Given the description of an element on the screen output the (x, y) to click on. 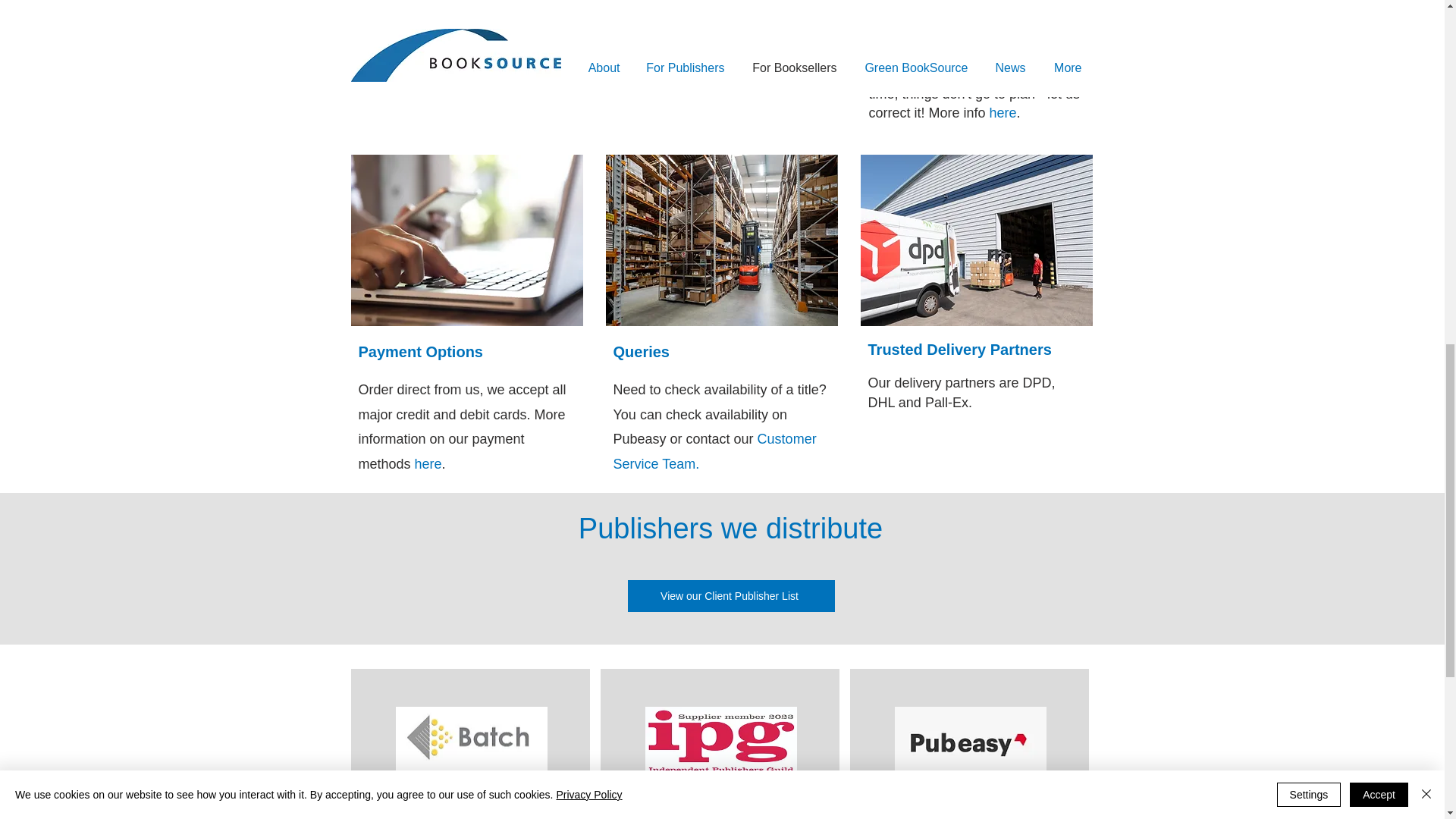
here (428, 463)
View our Client Publisher List (730, 595)
email (773, 37)
Customer Service Team. (713, 450)
Pubeasy (724, 37)
here (1003, 112)
here. (1044, 2)
